Given the description of an element on the screen output the (x, y) to click on. 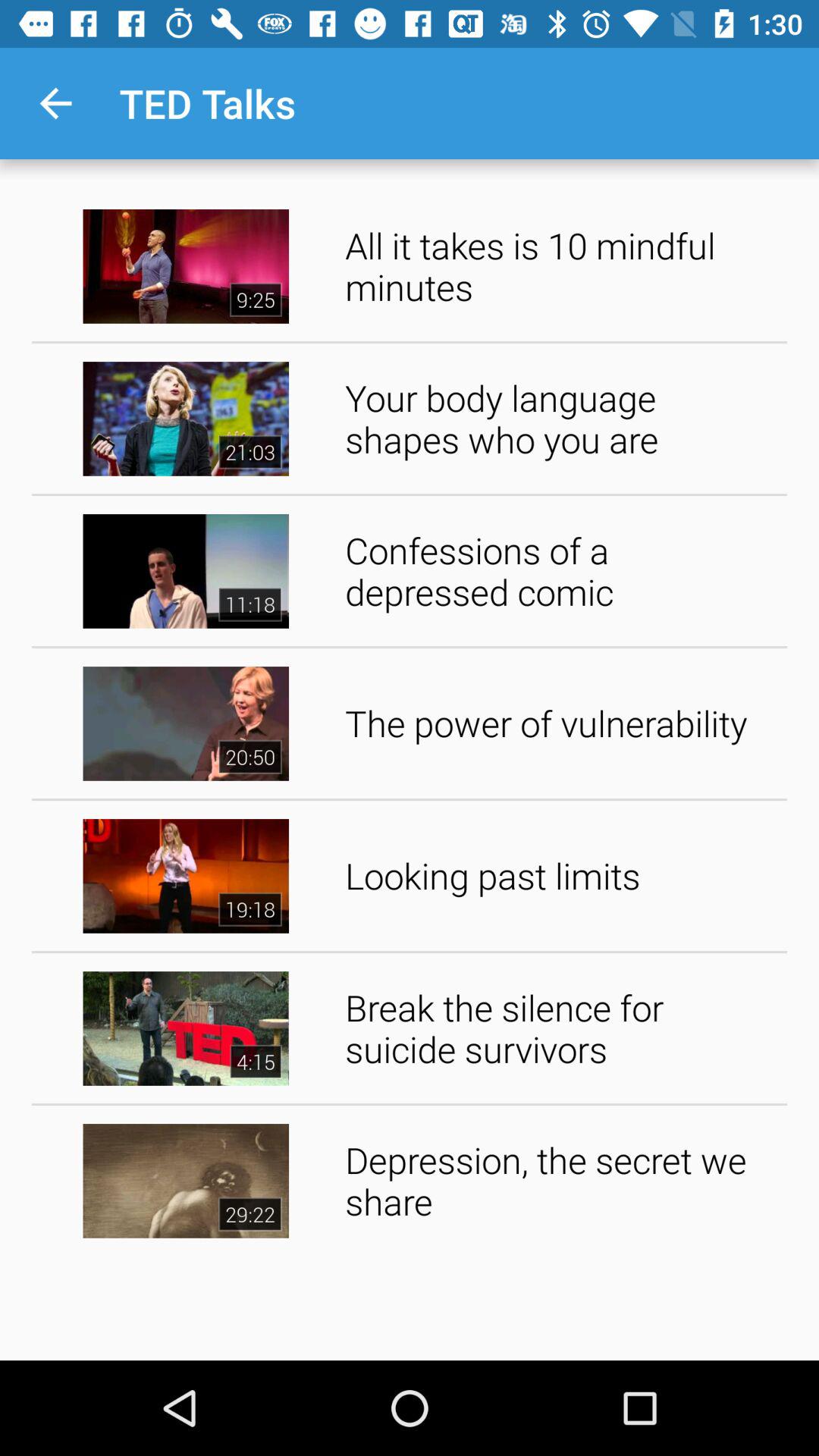
swipe until the depression the secret icon (560, 1180)
